Given the description of an element on the screen output the (x, y) to click on. 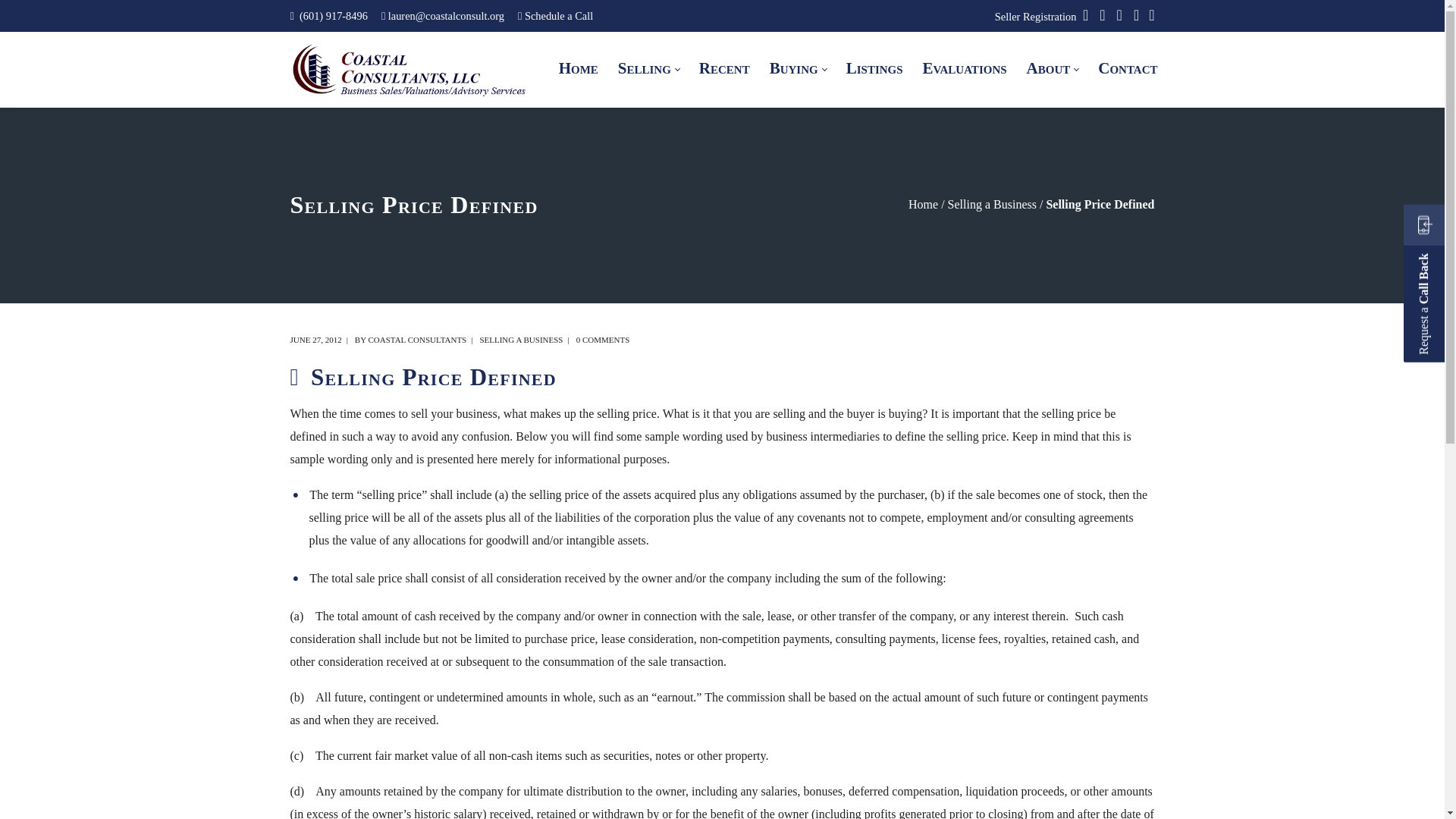
Seller Registration (1035, 16)
Schedule a Call (558, 15)
Listings (874, 69)
Evaluations (965, 69)
Contact (1127, 69)
Buying (797, 69)
Selling (648, 69)
